Given the description of an element on the screen output the (x, y) to click on. 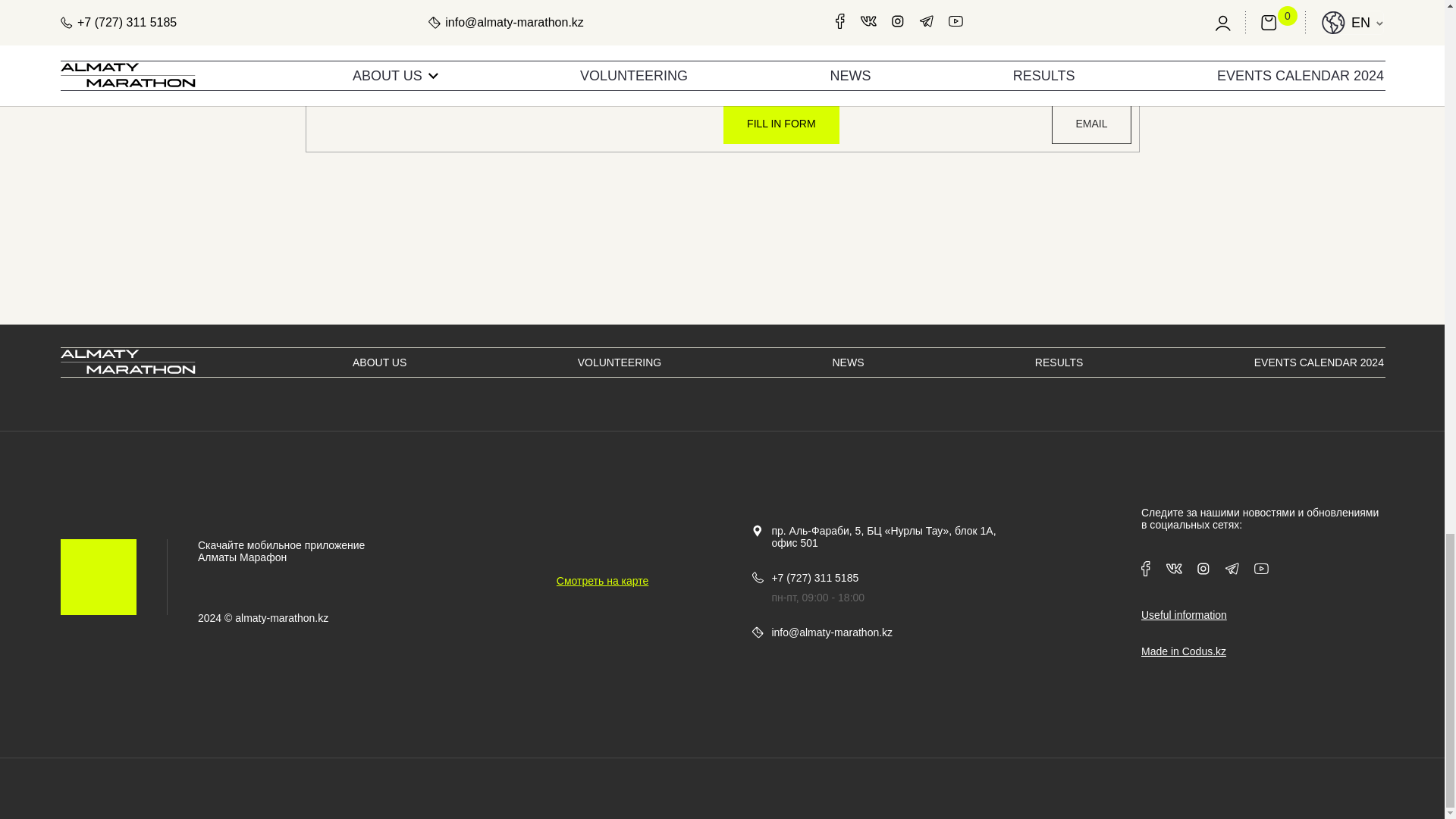
ABOUT US (379, 362)
EMAIL (1091, 123)
FILL IN FORM (781, 123)
VOLUNTEERING (619, 362)
RESULTS (1059, 362)
NEWS (848, 362)
